Given the description of an element on the screen output the (x, y) to click on. 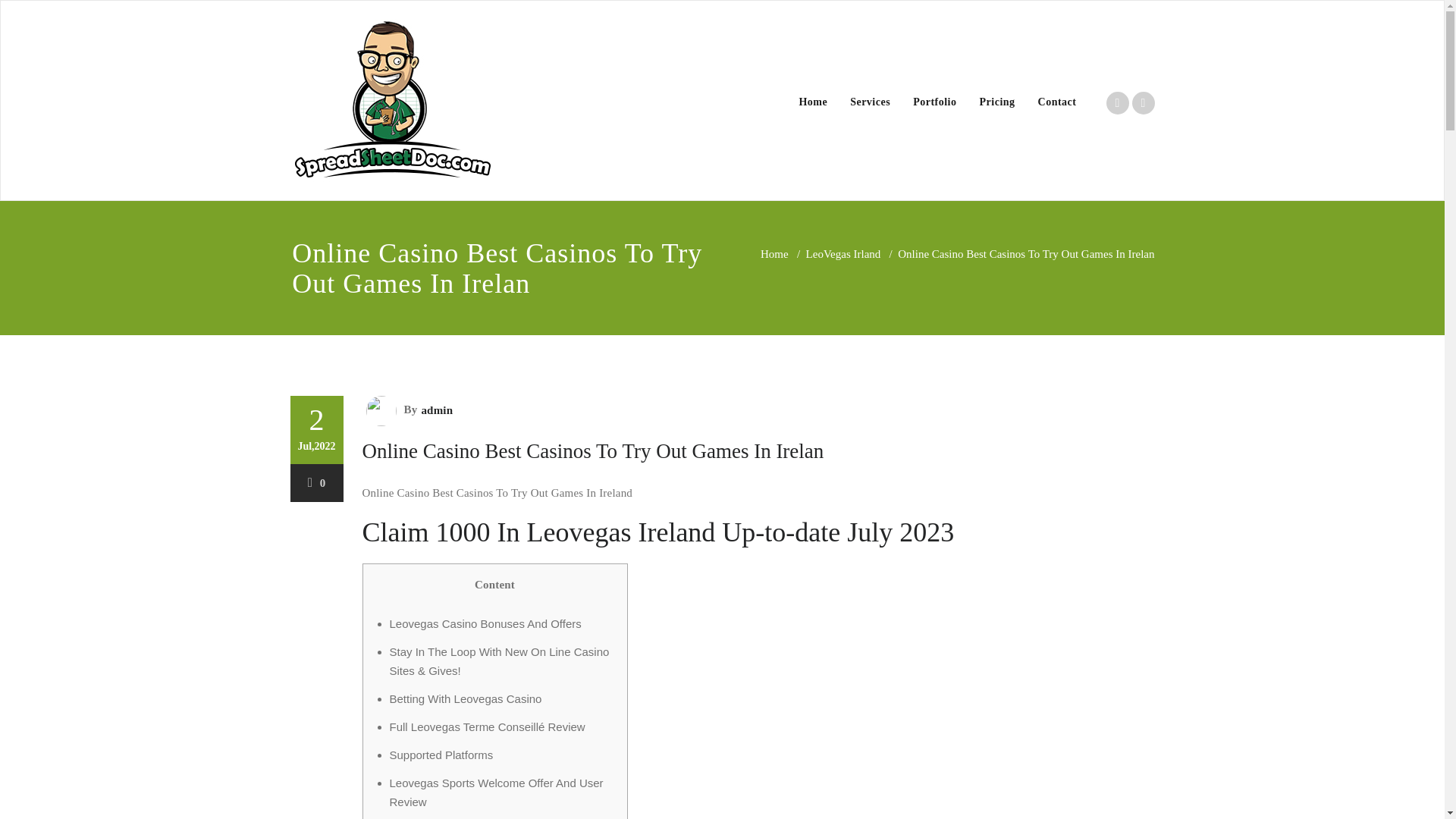
0 (316, 482)
Supported Platforms (441, 754)
Pricing (997, 102)
Leovegas Casino Bonuses And Offers (485, 623)
admin (434, 410)
Contact (1056, 102)
LeoVegas Irland (843, 254)
Home (774, 254)
Home (812, 102)
Portfolio (934, 102)
